Given the description of an element on the screen output the (x, y) to click on. 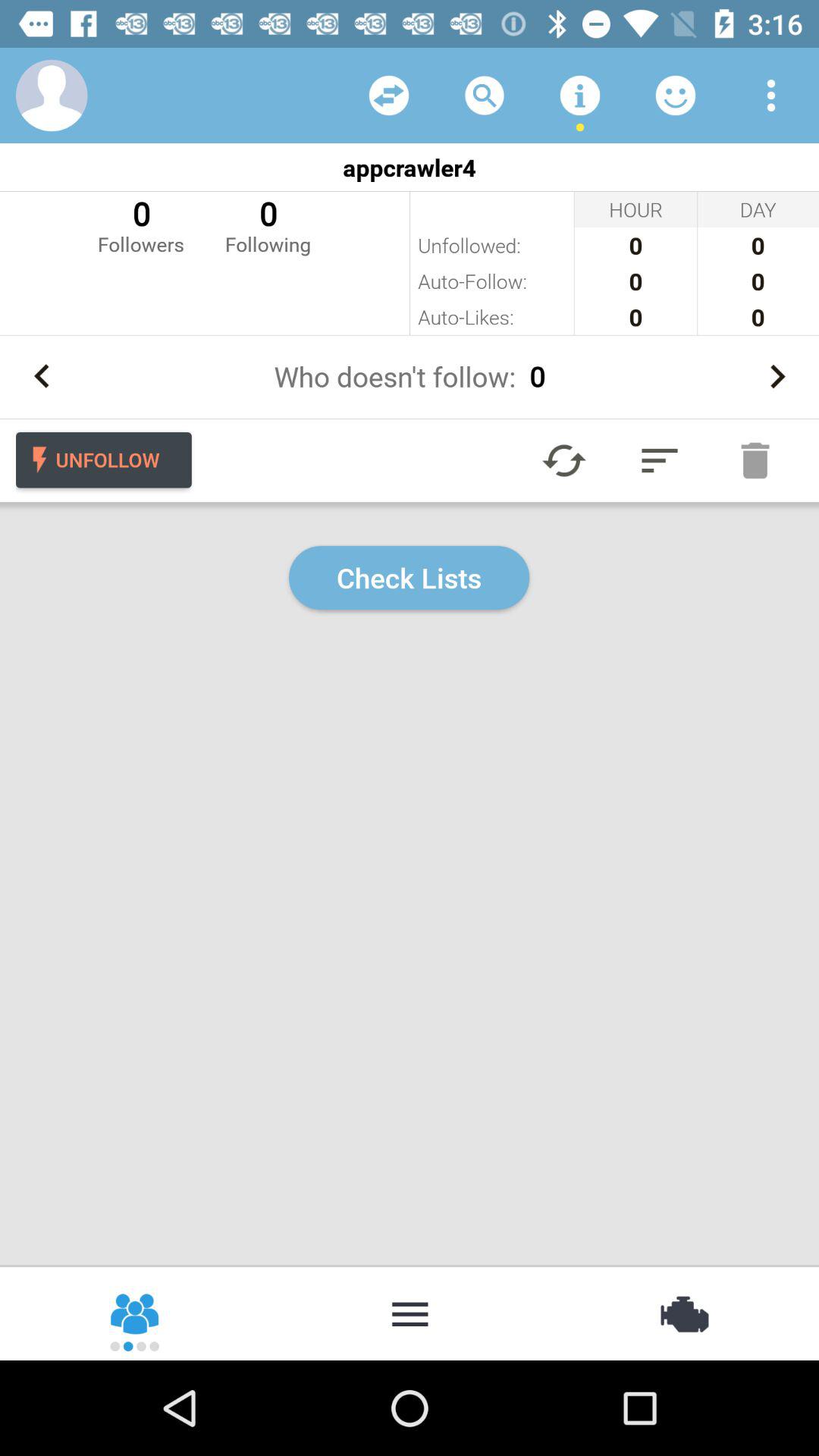
next page (777, 376)
